Given the description of an element on the screen output the (x, y) to click on. 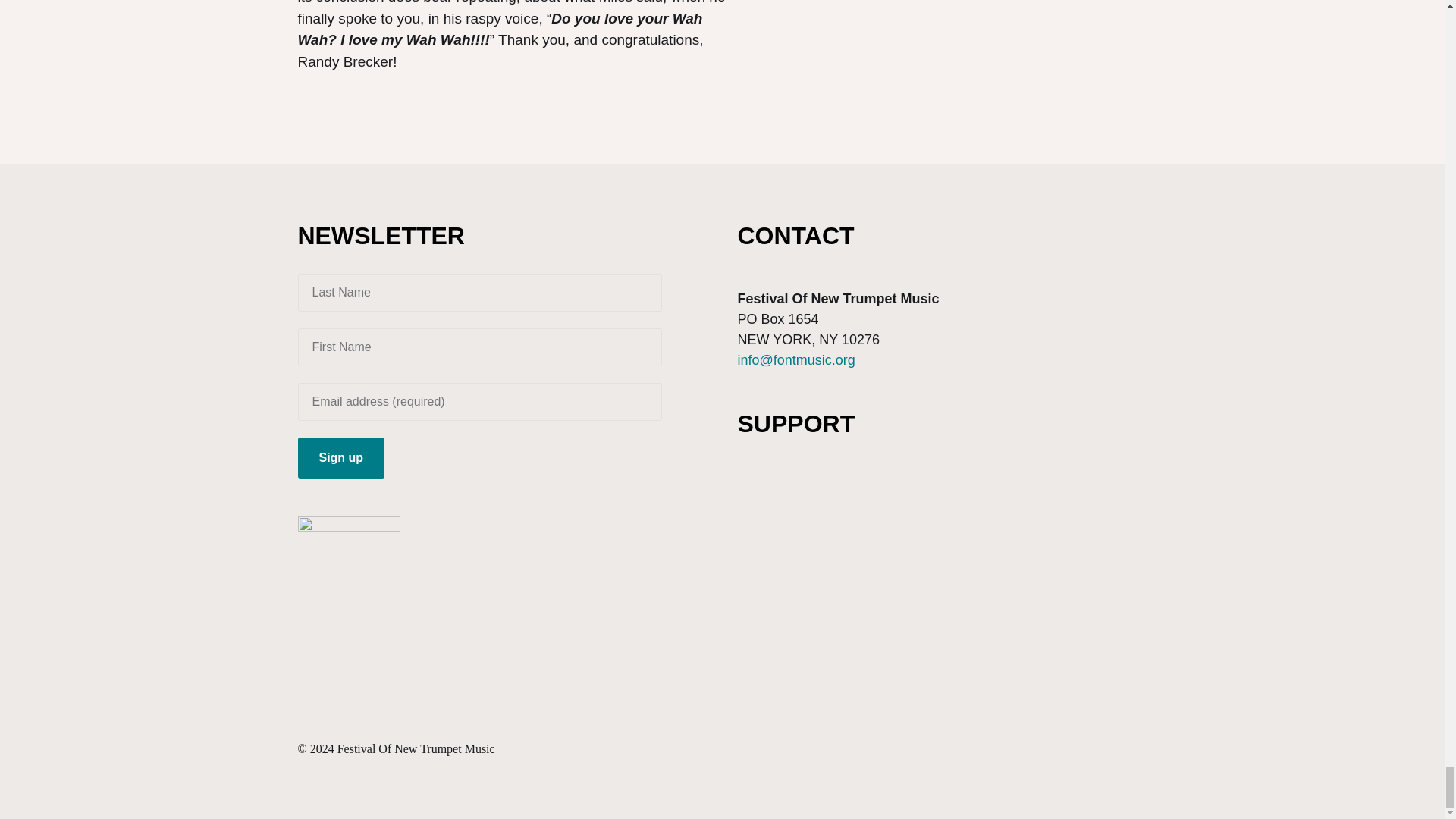
Sign up (340, 457)
